Given the description of an element on the screen output the (x, y) to click on. 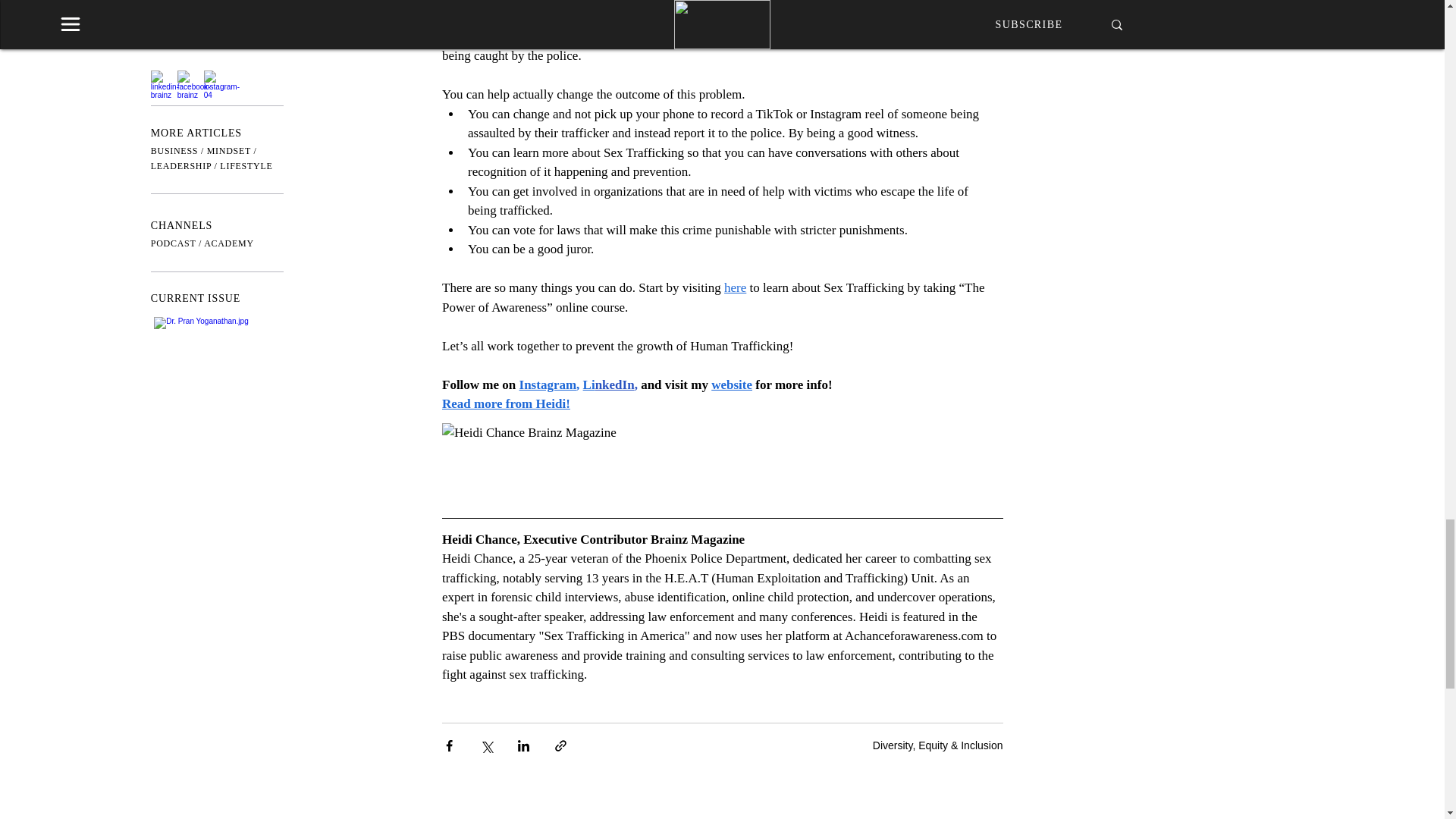
Read more from Heidi! (505, 403)
nkedIn (613, 384)
Instagram (547, 384)
website (731, 384)
here (734, 287)
